Given the description of an element on the screen output the (x, y) to click on. 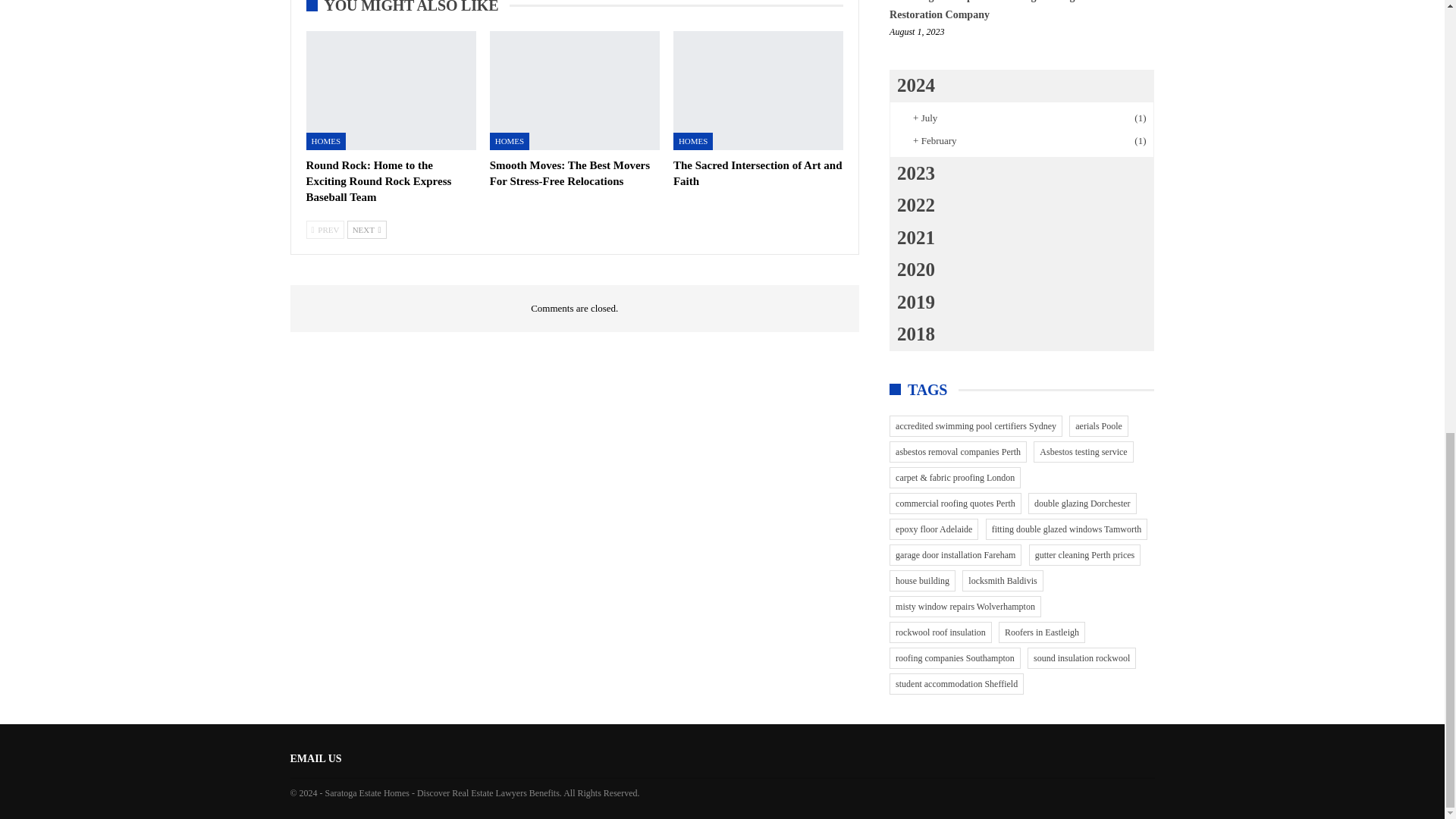
Next (367, 229)
The Sacred Intersection of Art and Faith (757, 90)
The Sacred Intersection of Art and Faith (757, 172)
Smooth Moves: The Best Movers For Stress-Free Relocations (569, 172)
Previous (325, 229)
Smooth Moves: The Best Movers For Stress-Free Relocations (574, 90)
